Given the description of an element on the screen output the (x, y) to click on. 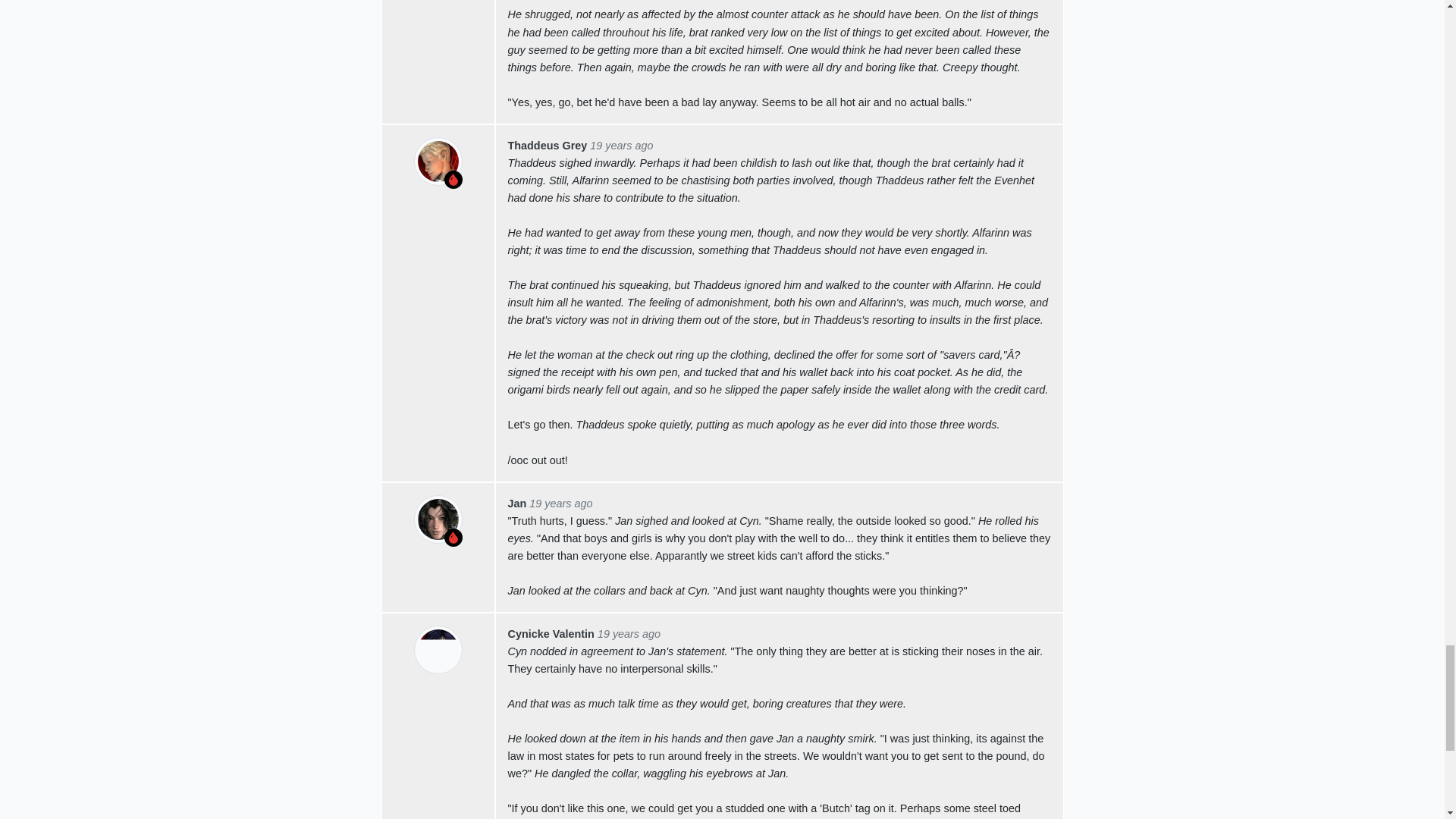
Jan (517, 503)
Cynicke Valentin (551, 633)
Thaddeus Grey (548, 145)
